Given the description of an element on the screen output the (x, y) to click on. 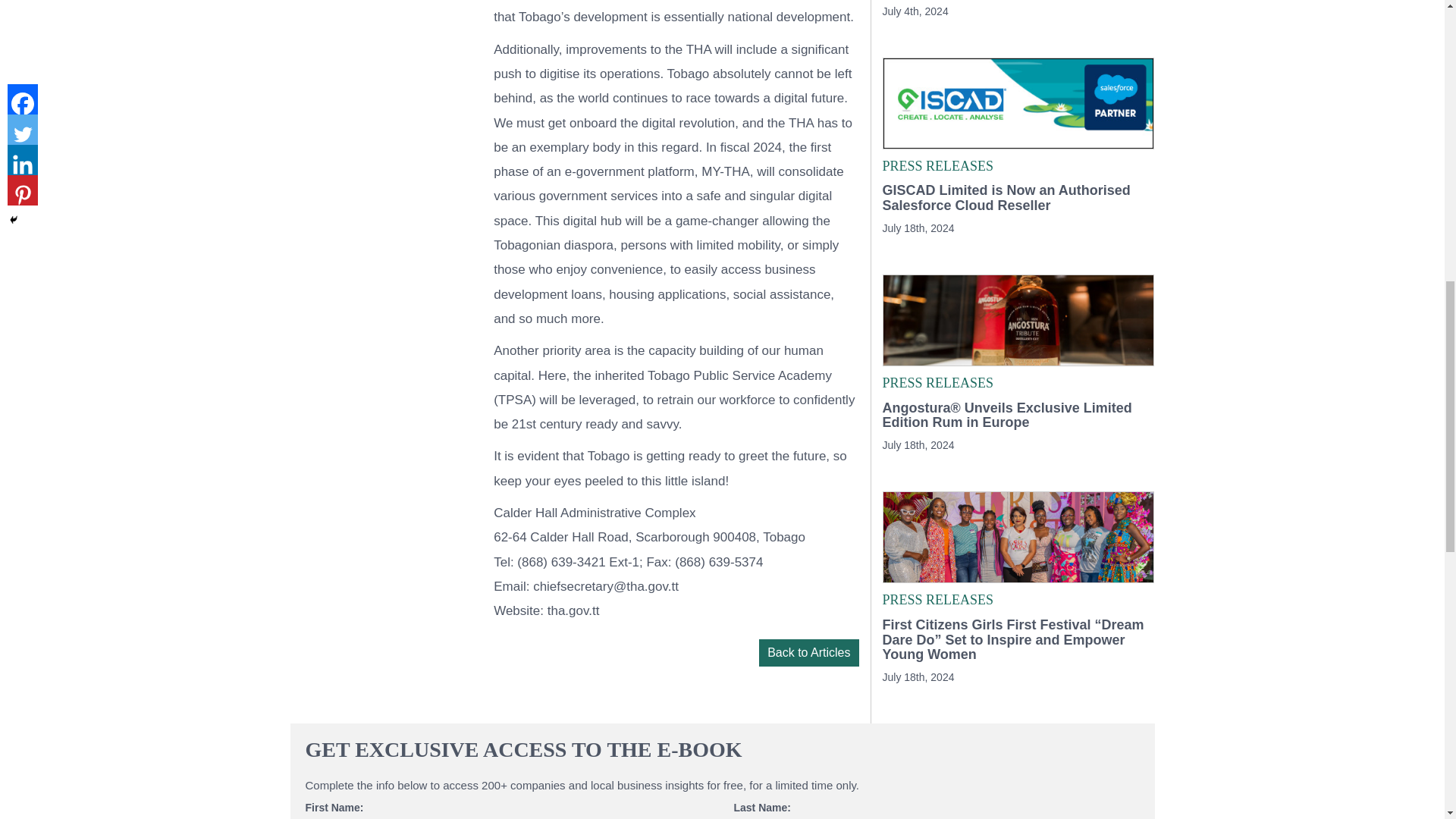
Back to Articles (808, 652)
